Given the description of an element on the screen output the (x, y) to click on. 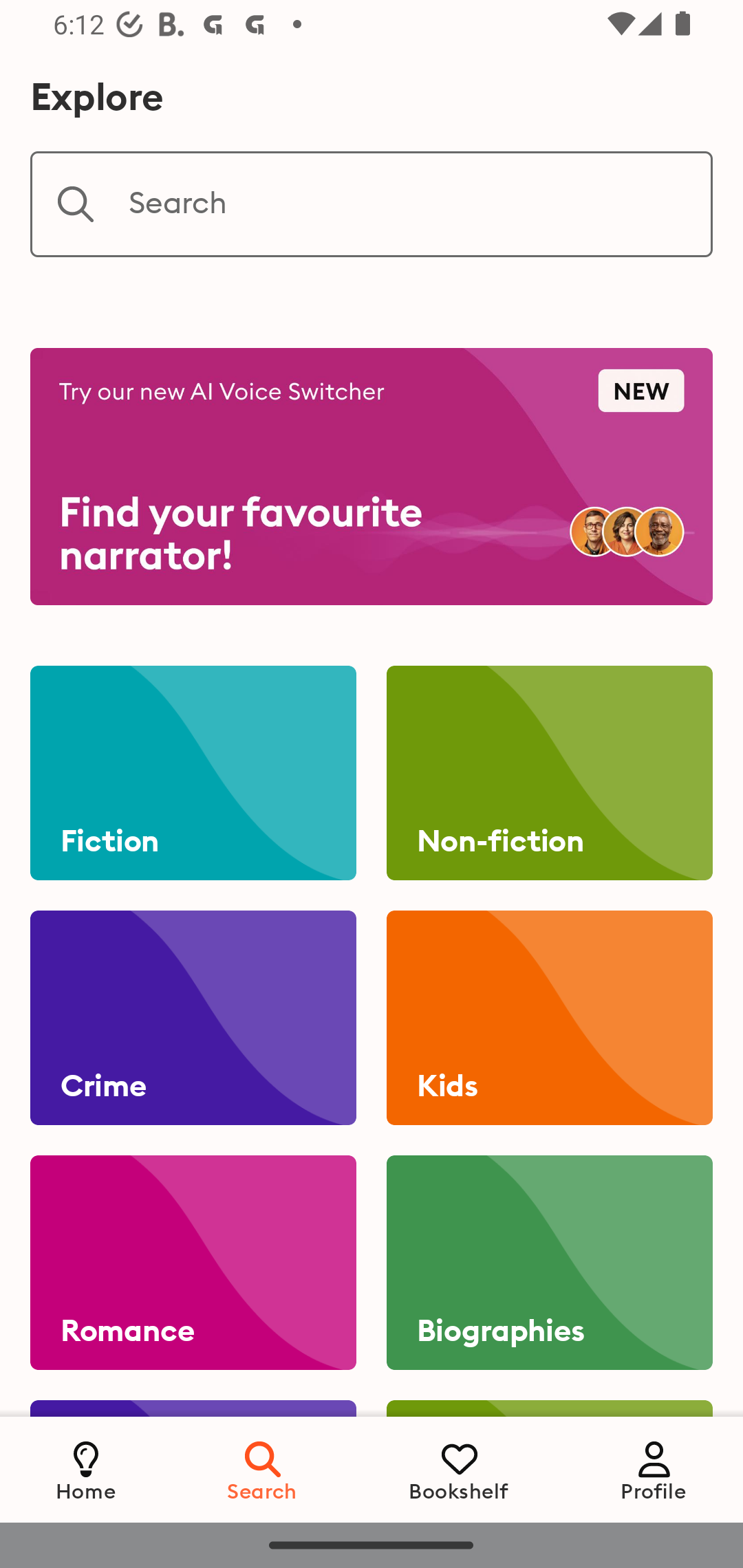
Search (371, 203)
Fiction (193, 772)
Non-fiction (549, 772)
Crime (193, 1018)
Kids (549, 1018)
Romance (193, 1262)
Biographies (549, 1262)
Home (85, 1468)
Search (262, 1468)
Bookshelf (458, 1468)
Profile (653, 1468)
